Given the description of an element on the screen output the (x, y) to click on. 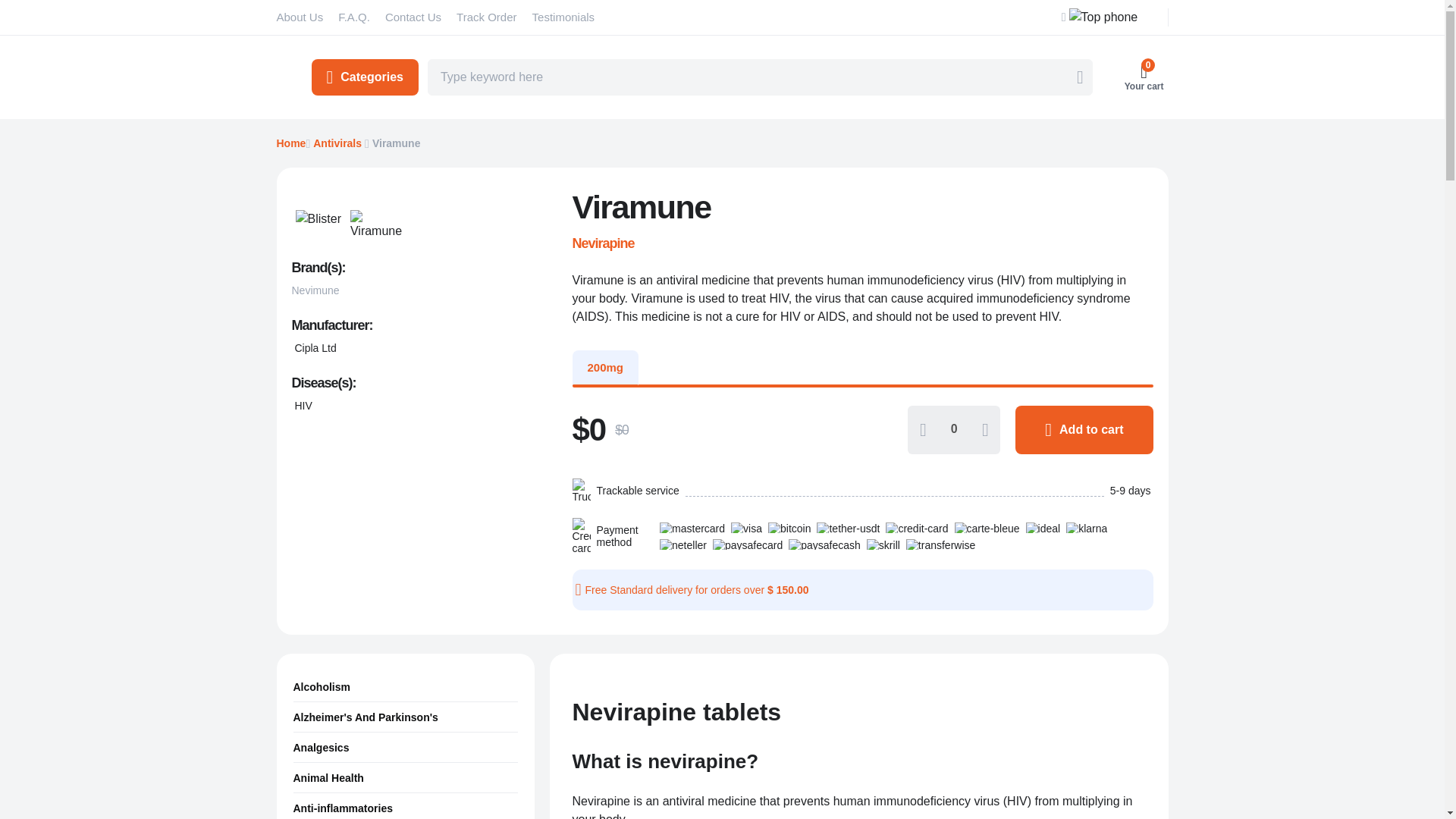
Track Order (486, 17)
0 (954, 428)
About Us (298, 17)
F.A.Q. (353, 17)
Testimonials (563, 17)
Contact Us (412, 17)
Categories (364, 76)
